Given the description of an element on the screen output the (x, y) to click on. 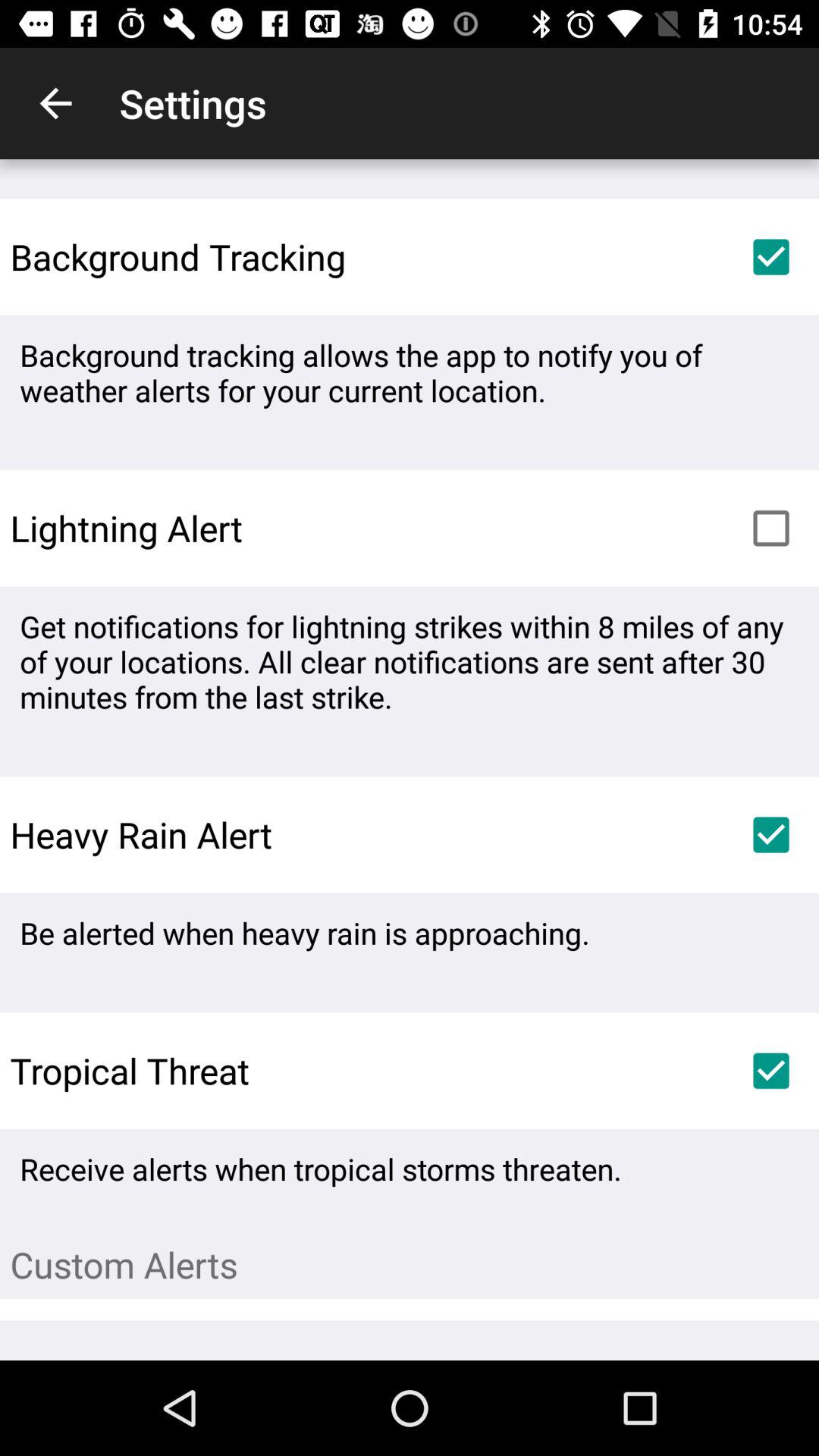
click item to the right of background tracking (771, 256)
